Given the description of an element on the screen output the (x, y) to click on. 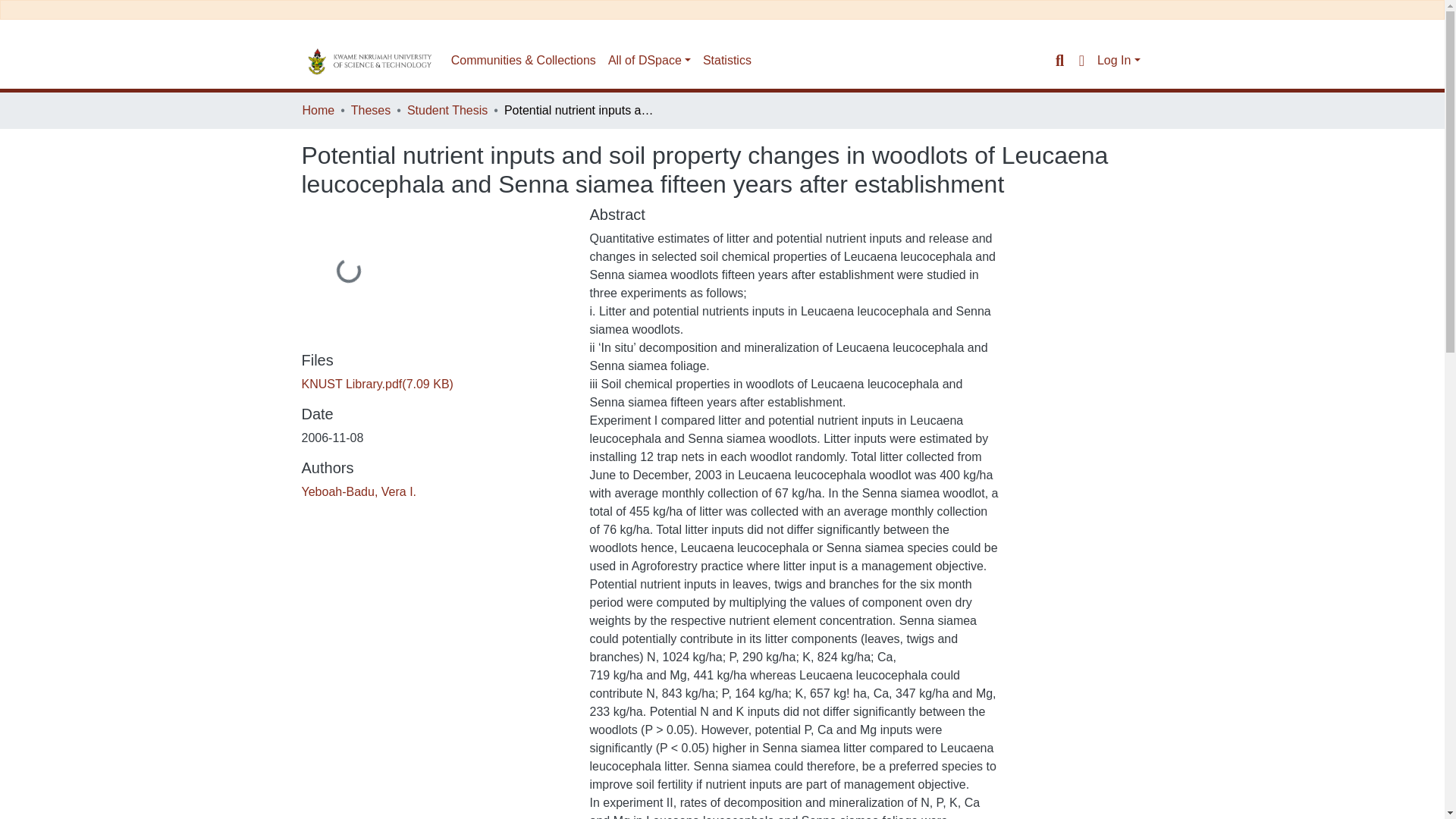
Home (317, 110)
Language switch (1081, 60)
Yeboah-Badu, Vera I. (358, 491)
Statistics (727, 60)
All of DSpace (649, 60)
Student Thesis (447, 110)
Log In (1118, 60)
Statistics (727, 60)
Theses (370, 110)
Search (1058, 60)
